Given the description of an element on the screen output the (x, y) to click on. 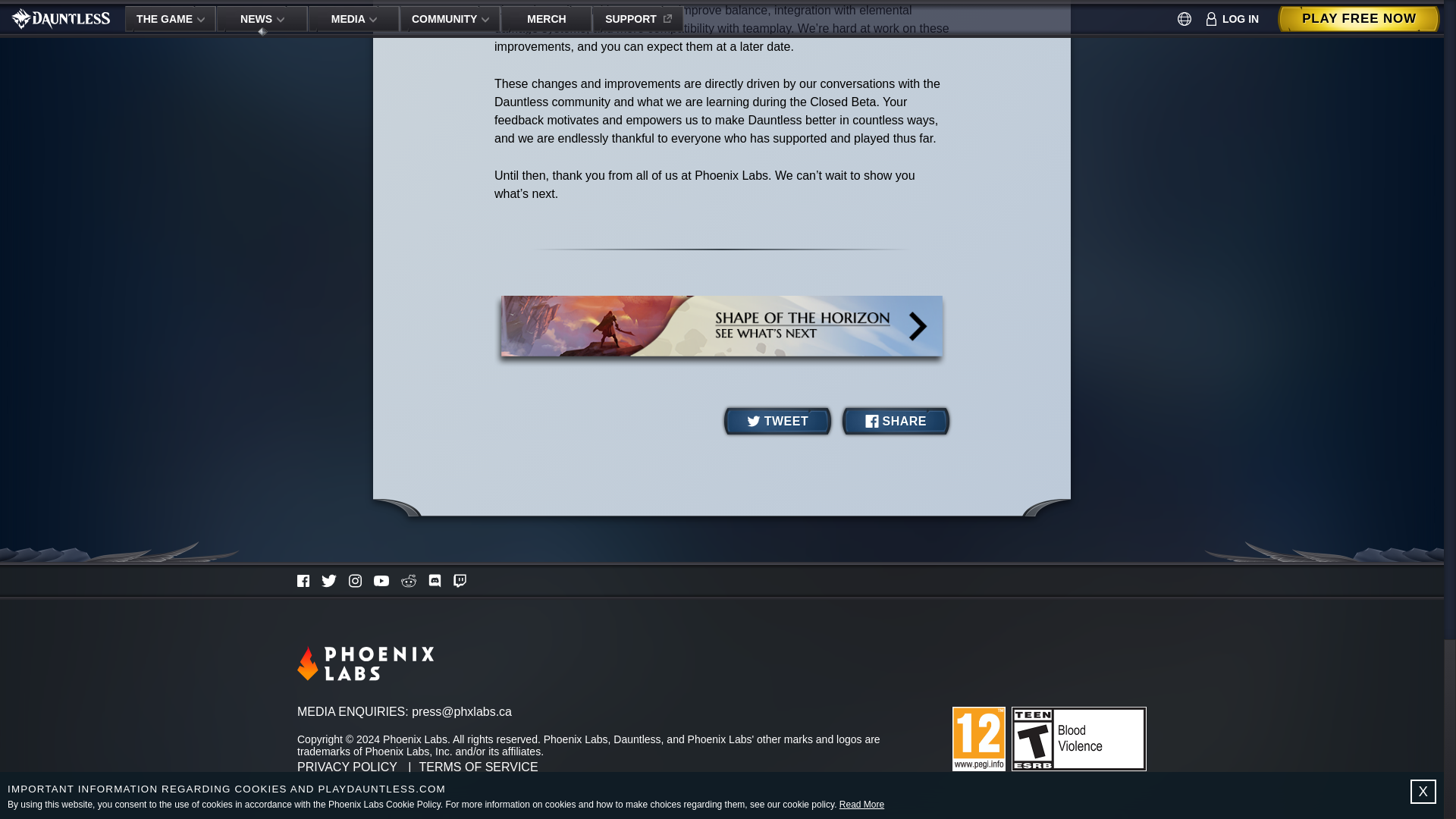
Share to Facebook (896, 420)
Phoenix Labs (365, 662)
Share to Twitter (777, 420)
